Given the description of an element on the screen output the (x, y) to click on. 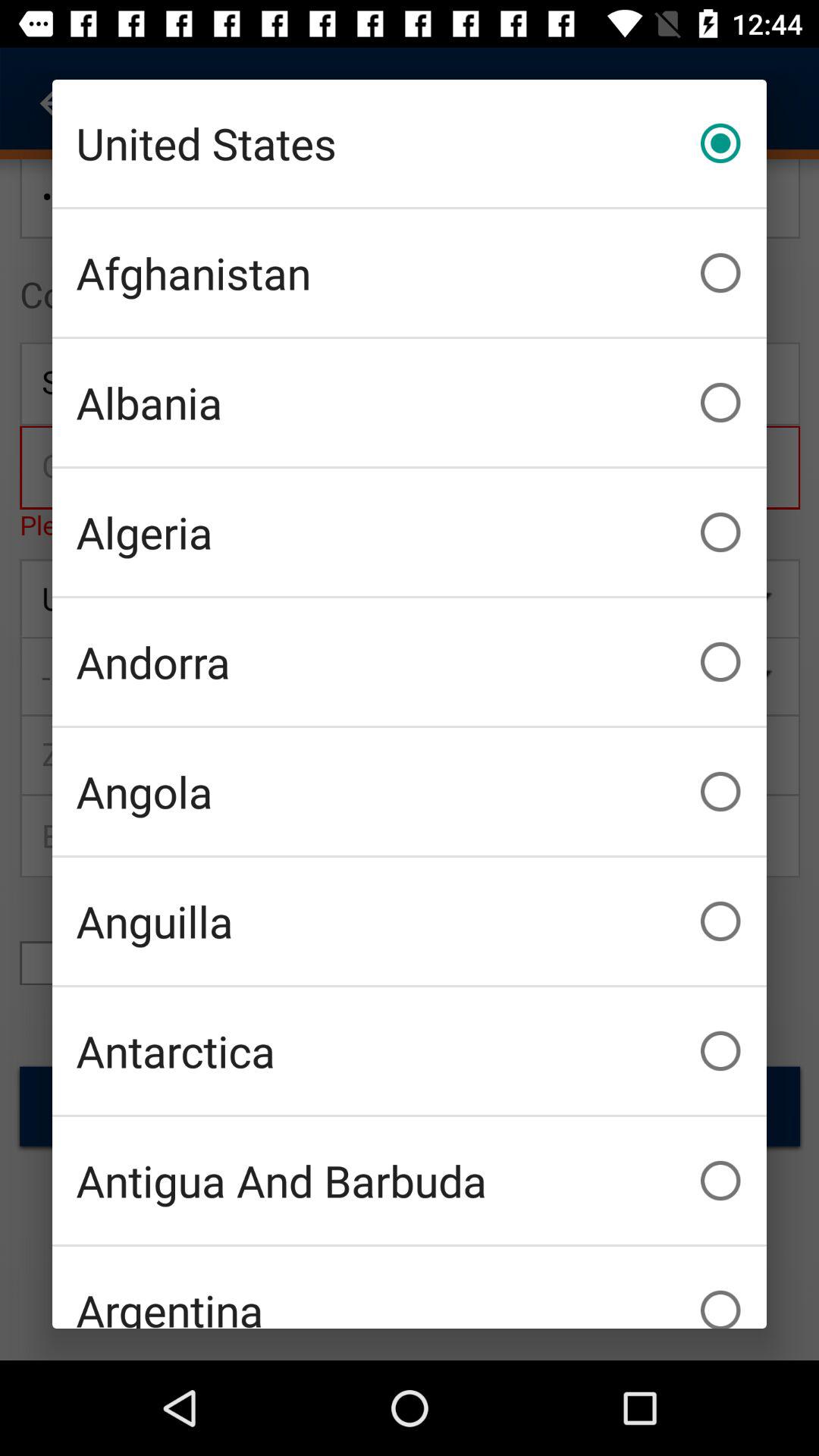
select argentina (409, 1287)
